Given the description of an element on the screen output the (x, y) to click on. 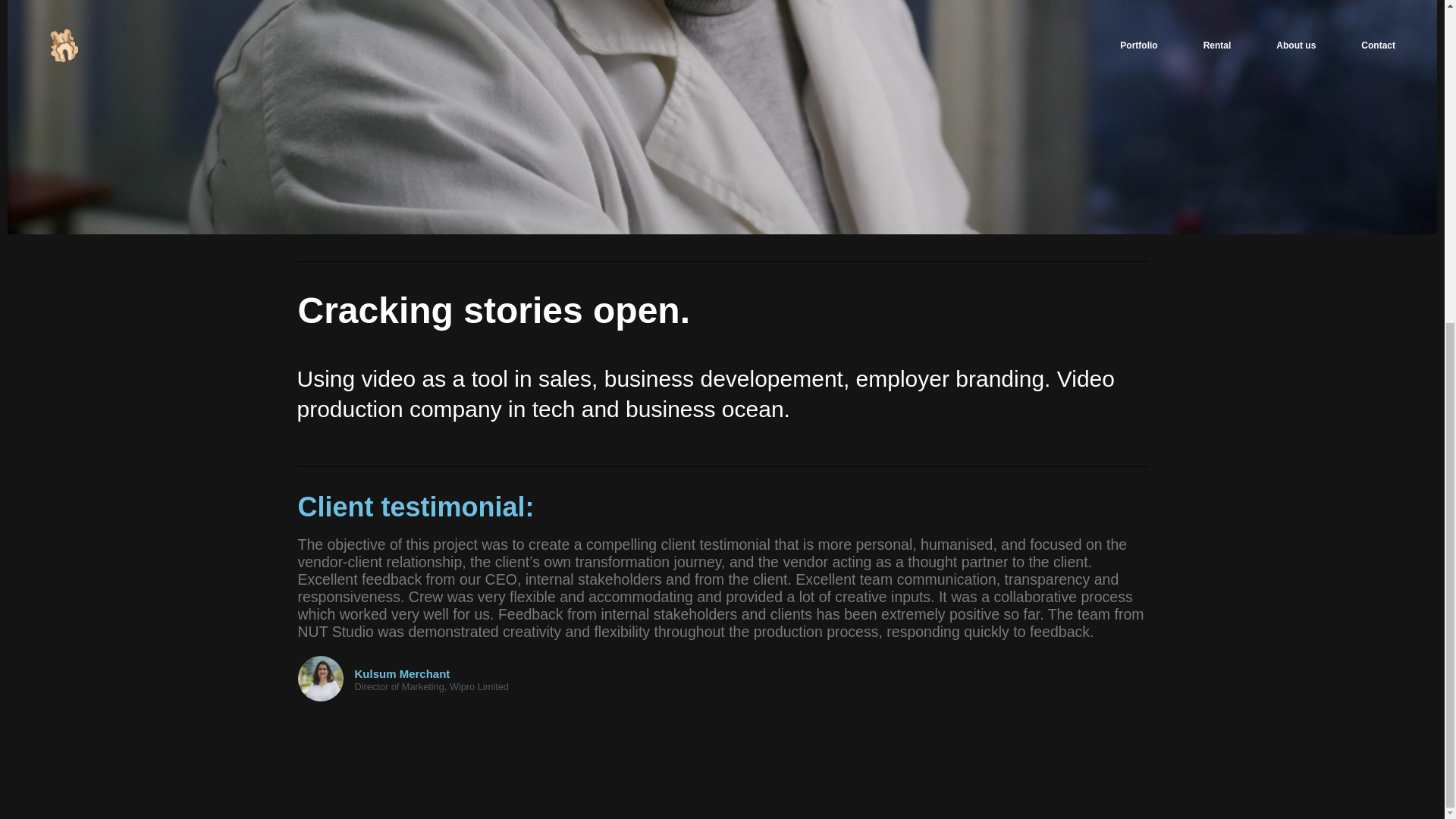
Kulsum Merchant (431, 674)
Director of Marketing, Wipro Limited (431, 687)
